Given the description of an element on the screen output the (x, y) to click on. 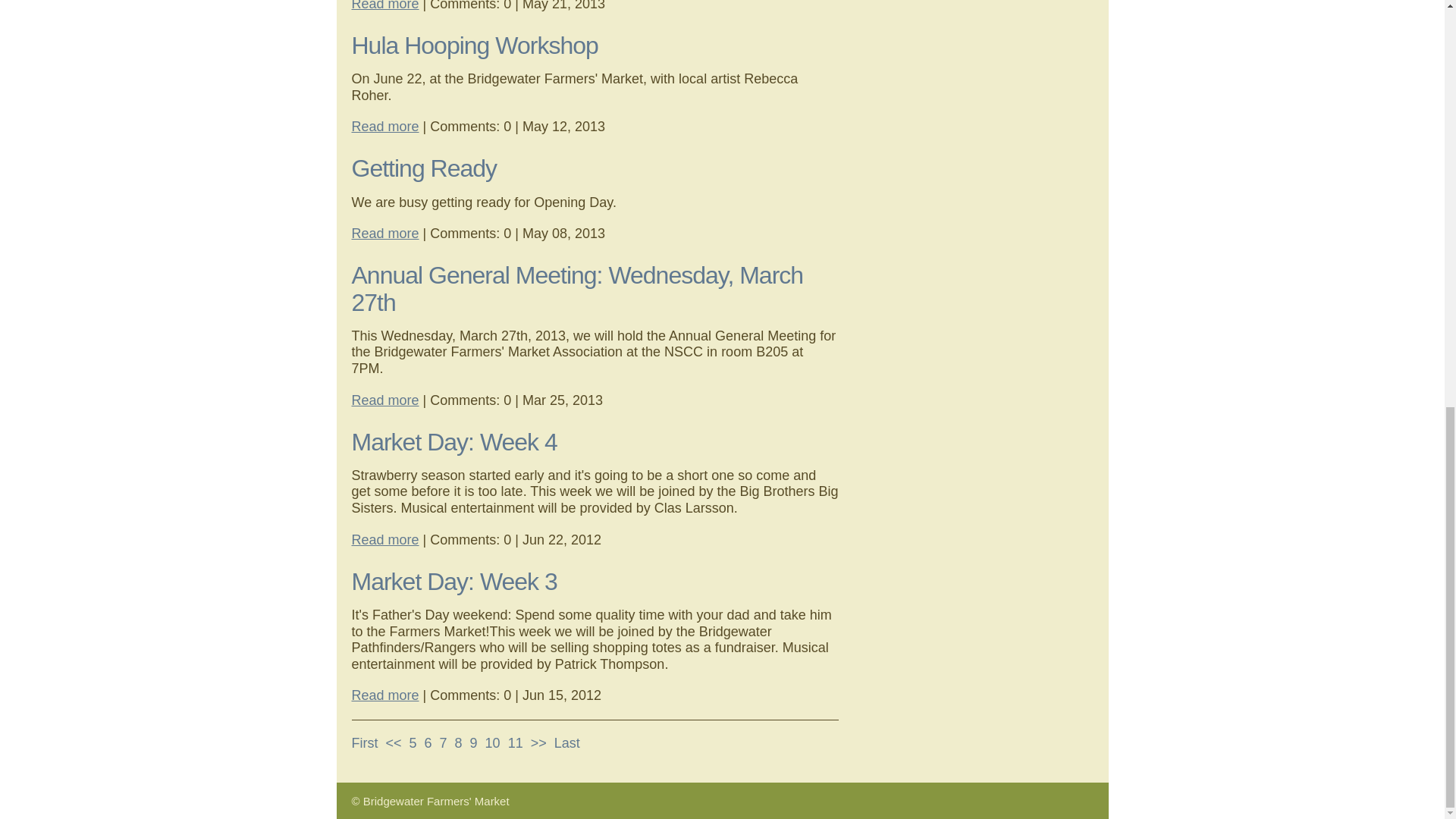
Read more (385, 126)
11 (515, 743)
Market Day: Week 3 (454, 581)
First (365, 743)
Market Day: Week 4 (454, 441)
Getting Ready (424, 167)
Hula Hooping Workshop (475, 44)
Read more (385, 5)
Read more (385, 233)
Read more (385, 694)
